Given the description of an element on the screen output the (x, y) to click on. 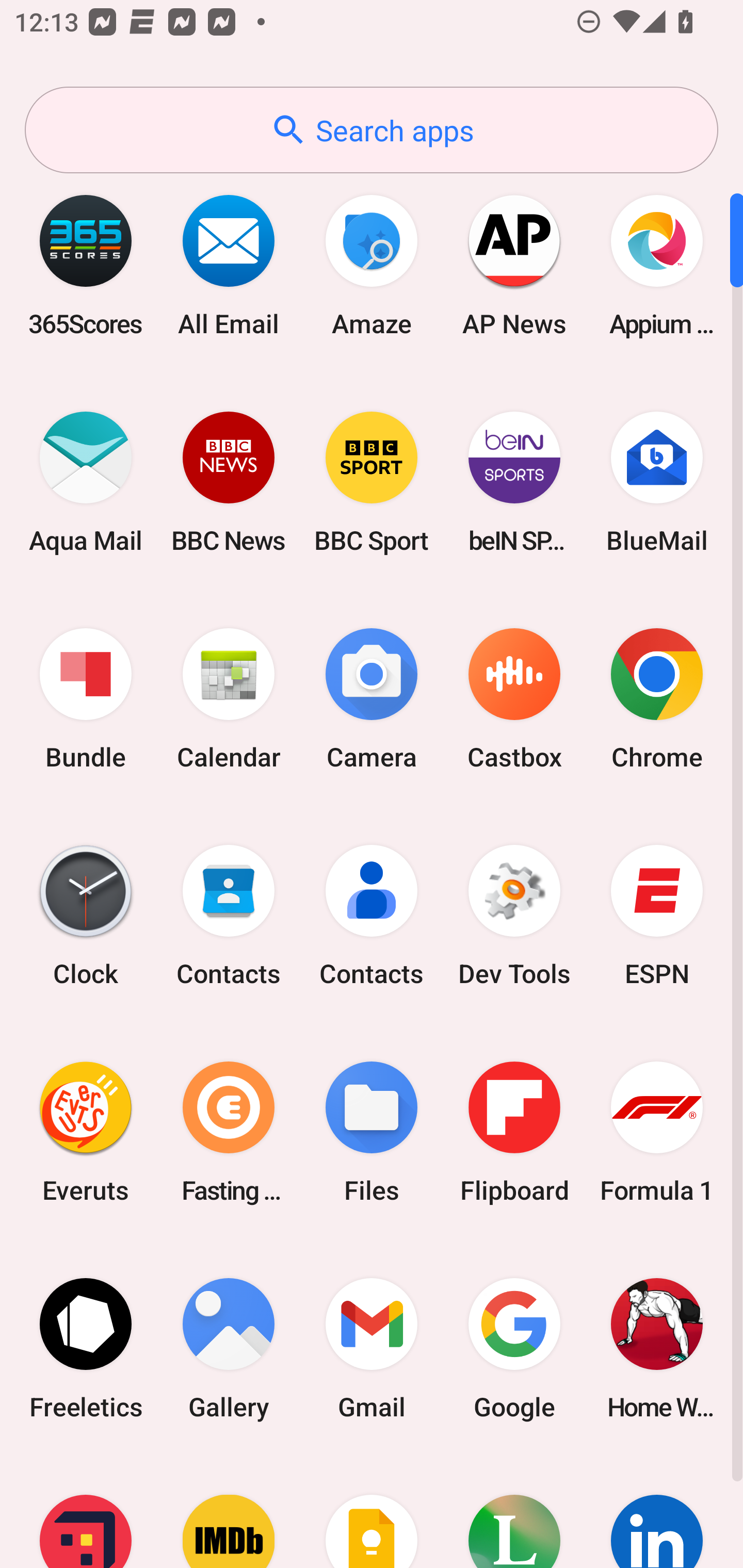
  Search apps (371, 130)
365Scores (85, 264)
All Email (228, 264)
Amaze (371, 264)
AP News (514, 264)
Appium Settings (656, 264)
Aqua Mail (85, 482)
BBC News (228, 482)
BBC Sport (371, 482)
beIN SPORTS (514, 482)
BlueMail (656, 482)
Bundle (85, 699)
Calendar (228, 699)
Camera (371, 699)
Castbox (514, 699)
Chrome (656, 699)
Clock (85, 915)
Contacts (228, 915)
Contacts (371, 915)
Dev Tools (514, 915)
ESPN (656, 915)
Everuts (85, 1131)
Fasting Coach (228, 1131)
Files (371, 1131)
Flipboard (514, 1131)
Formula 1 (656, 1131)
Freeletics (85, 1348)
Gallery (228, 1348)
Gmail (371, 1348)
Google (514, 1348)
Home Workout (656, 1348)
Hotels.com (85, 1512)
IMDb (228, 1512)
Keep Notes (371, 1512)
Lifesum (514, 1512)
LinkedIn (656, 1512)
